Given the description of an element on the screen output the (x, y) to click on. 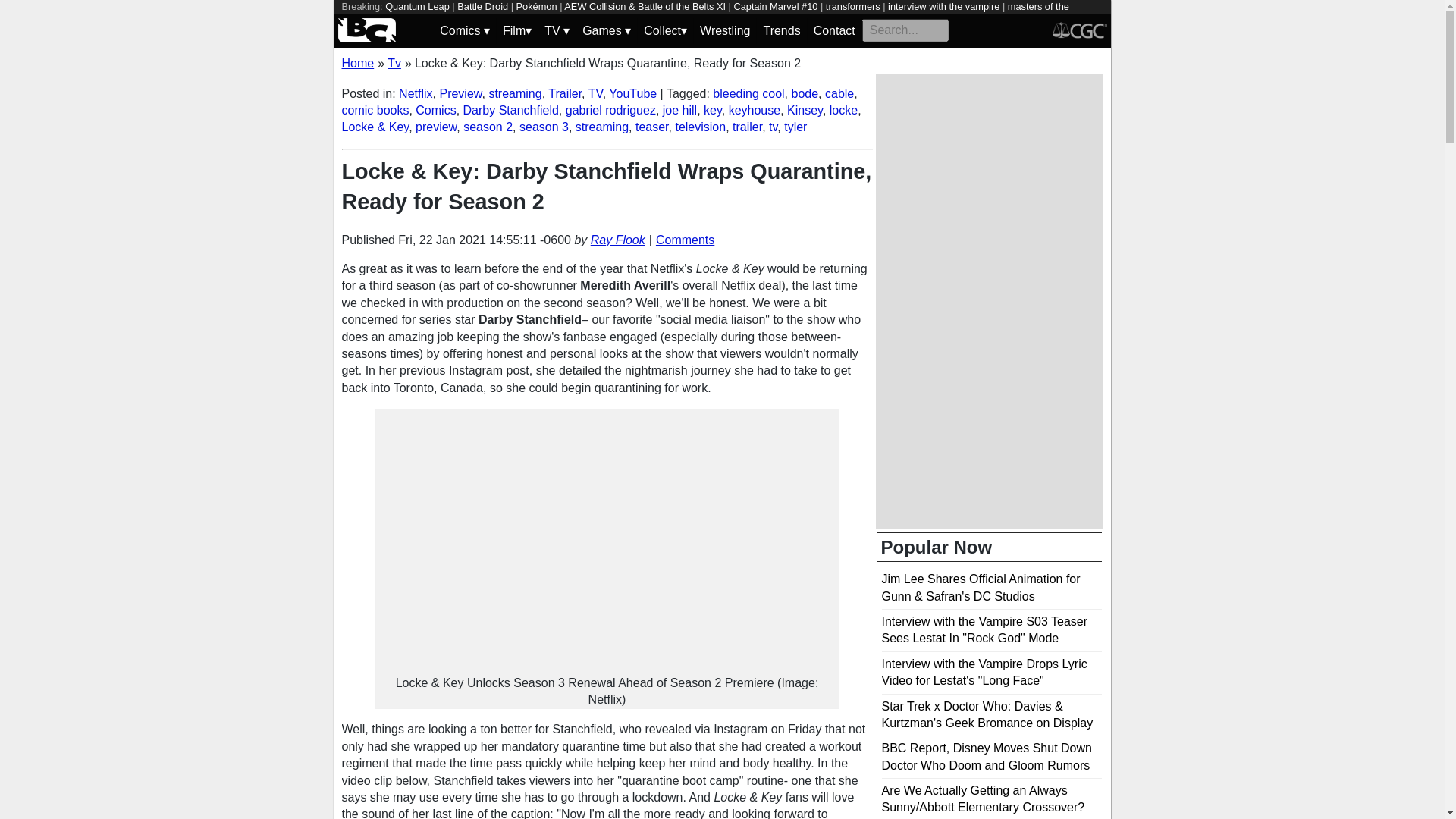
modern family (545, 19)
Toggle Dropdown (665, 30)
masters of the universe (704, 12)
Battle Droid (482, 6)
Kill The Shadow (420, 19)
Toggle Dropdown (516, 30)
the matrix (485, 19)
transformers (852, 6)
Doctor Doom (611, 19)
Fri, 22 Jan 2021 14:55:11 -0600 (483, 239)
Toggle Dropdown (556, 30)
tmnt (656, 19)
Toggle Dropdown (606, 30)
Quantum Leap (417, 6)
interview with the vampire (943, 6)
